Given the description of an element on the screen output the (x, y) to click on. 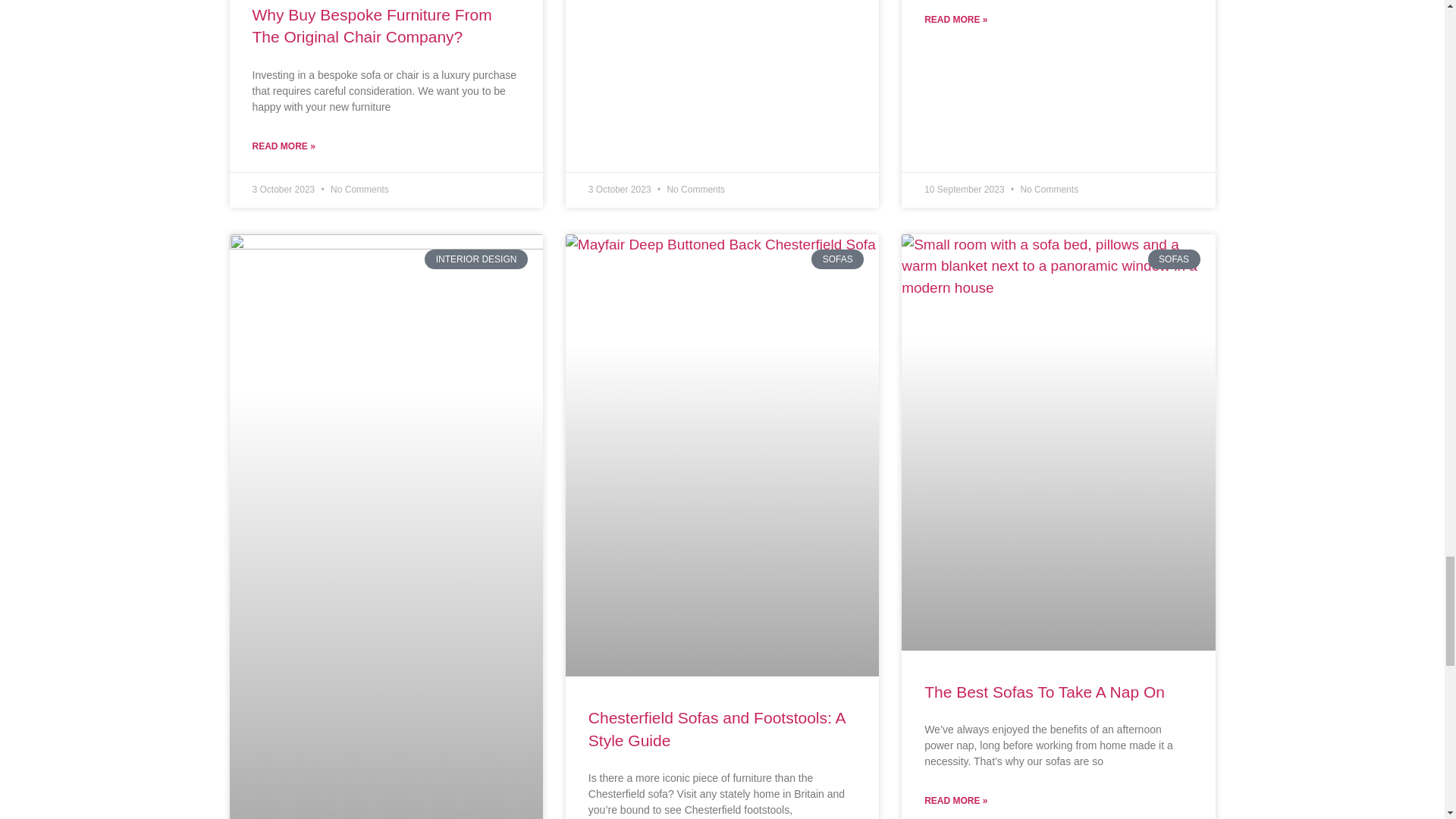
Why Buy Bespoke Furniture From The Original Chair Company? (371, 25)
